Given the description of an element on the screen output the (x, y) to click on. 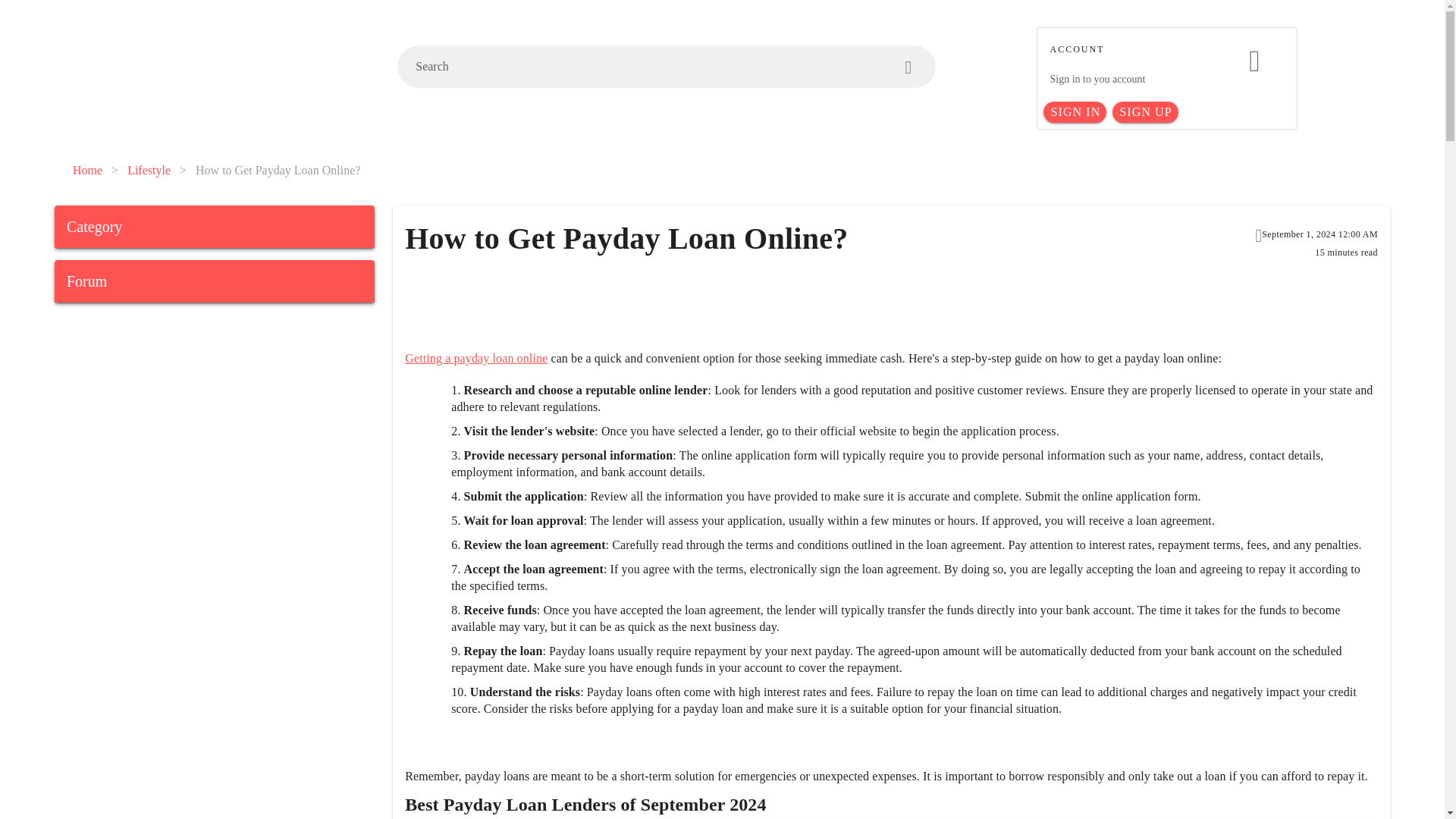
How to Get Payday Loan Online? (277, 170)
Getting a payday loan online (475, 358)
SIGN IN (1074, 111)
Lifestyle (149, 170)
SIGN UP (1144, 111)
Home (86, 170)
